Given the description of an element on the screen output the (x, y) to click on. 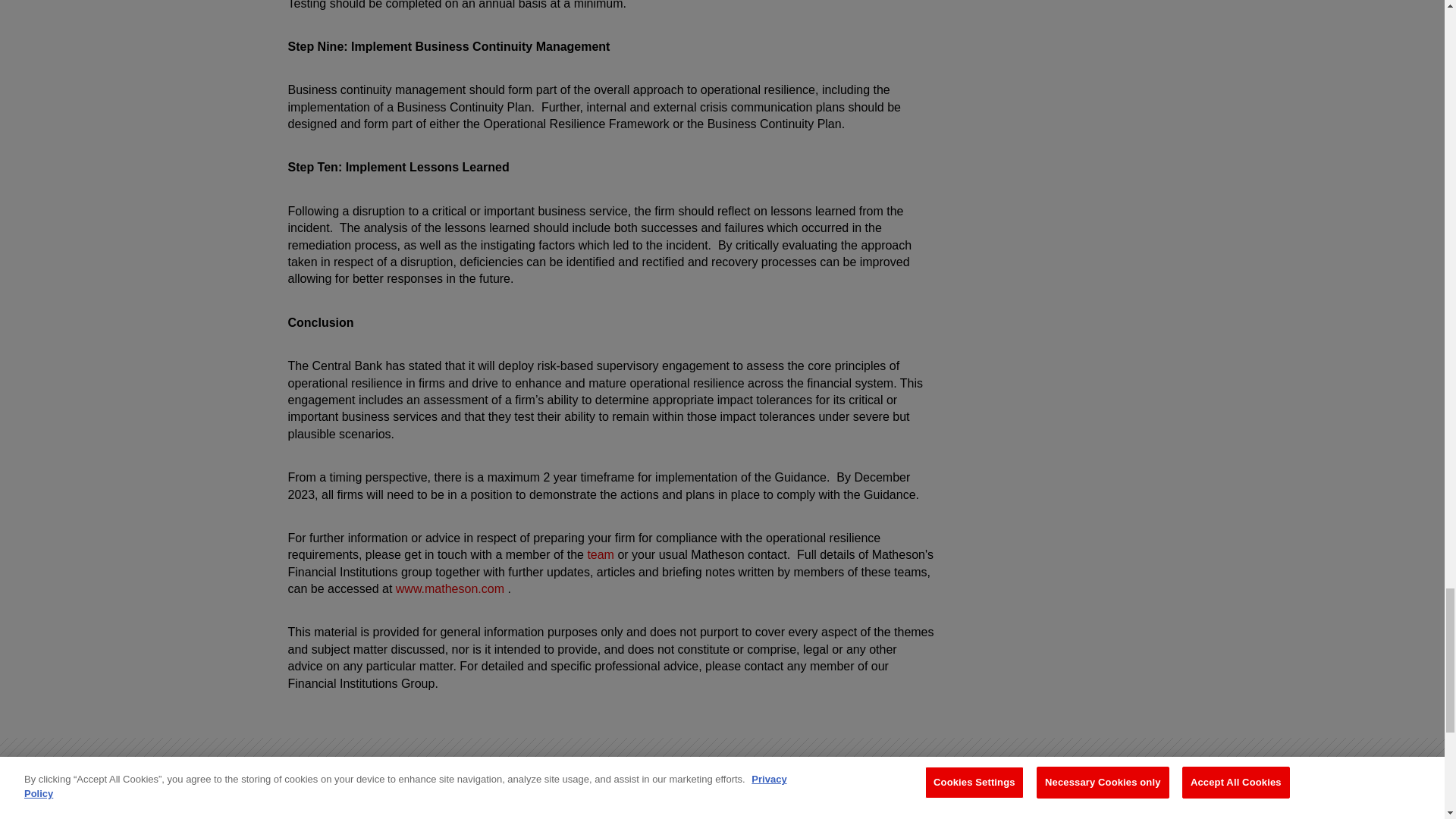
team (600, 554)
www.matheson.com (449, 588)
